Given the description of an element on the screen output the (x, y) to click on. 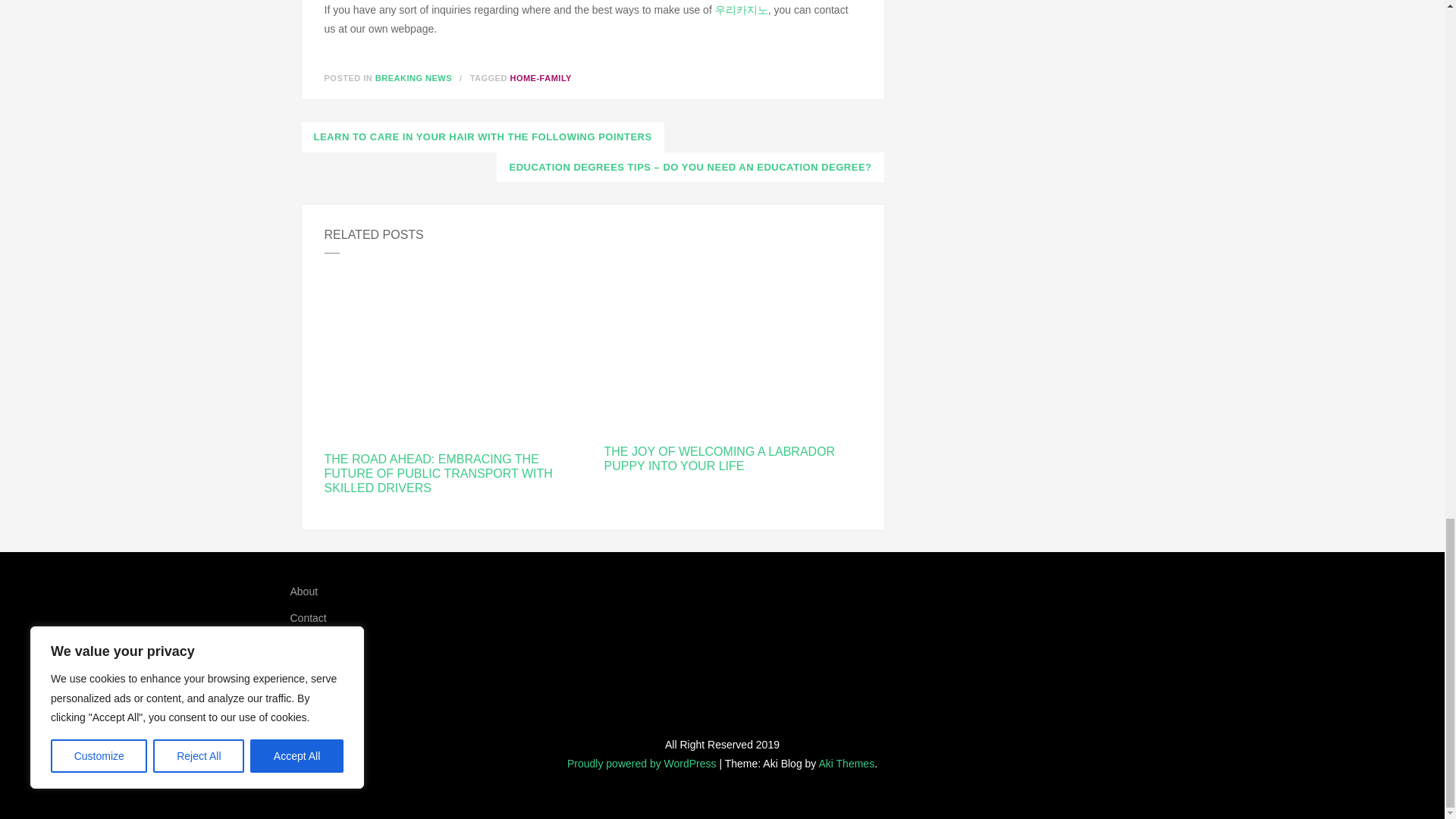
BREAKING NEWS (413, 77)
LEARN TO CARE IN YOUR HAIR WITH THE FOLLOWING POINTERS (482, 137)
THE JOY OF WELCOMING A LABRADOR PUPPY INTO YOUR LIFE (732, 458)
HOME-FAMILY (540, 77)
